Given the description of an element on the screen output the (x, y) to click on. 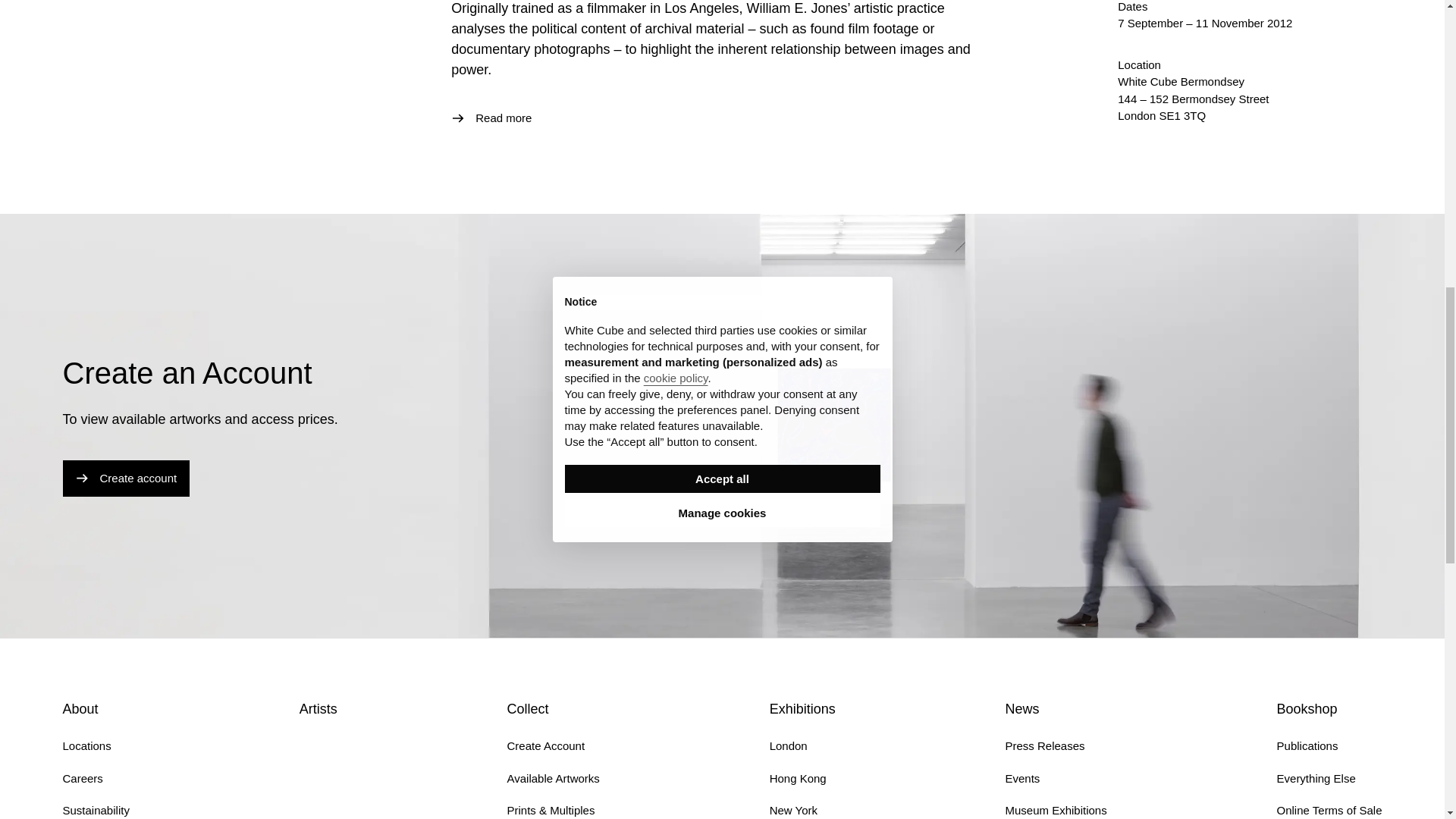
Create Account (545, 745)
Available Artworks (552, 778)
About (79, 708)
Learn more about White Cube Bermondsey (1181, 81)
Read more (491, 118)
Collect (527, 708)
Careers (81, 778)
Create account (125, 478)
Locations (86, 745)
Create account (125, 478)
Artists (318, 708)
Sustainability (95, 809)
White Cube Bermondsey (1181, 81)
